Given the description of an element on the screen output the (x, y) to click on. 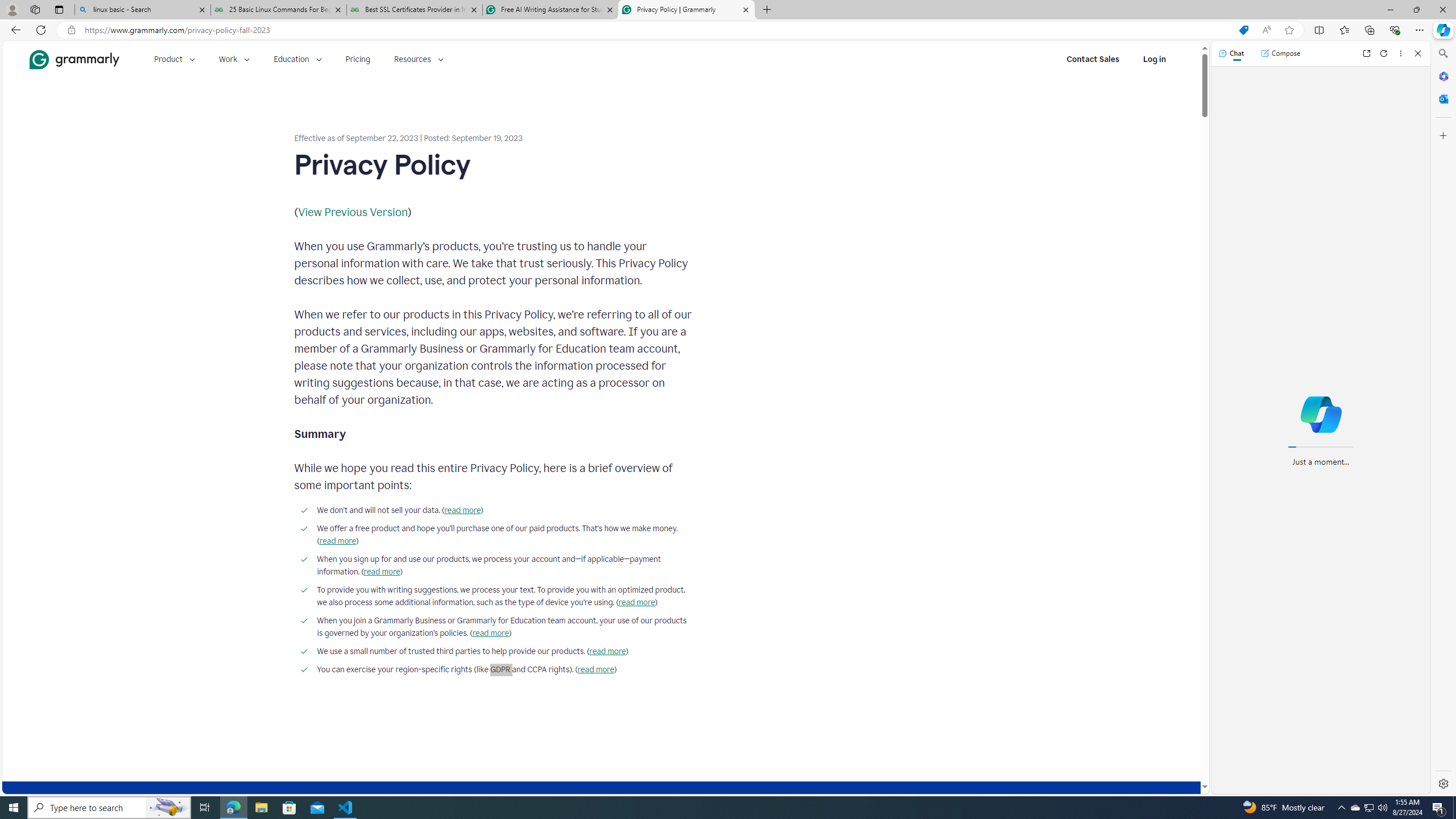
Open link in new tab (1366, 53)
Free AI Writing Assistance for Students | Grammarly (550, 9)
Pricing (357, 58)
Education (297, 58)
Resources (419, 58)
